Given the description of an element on the screen output the (x, y) to click on. 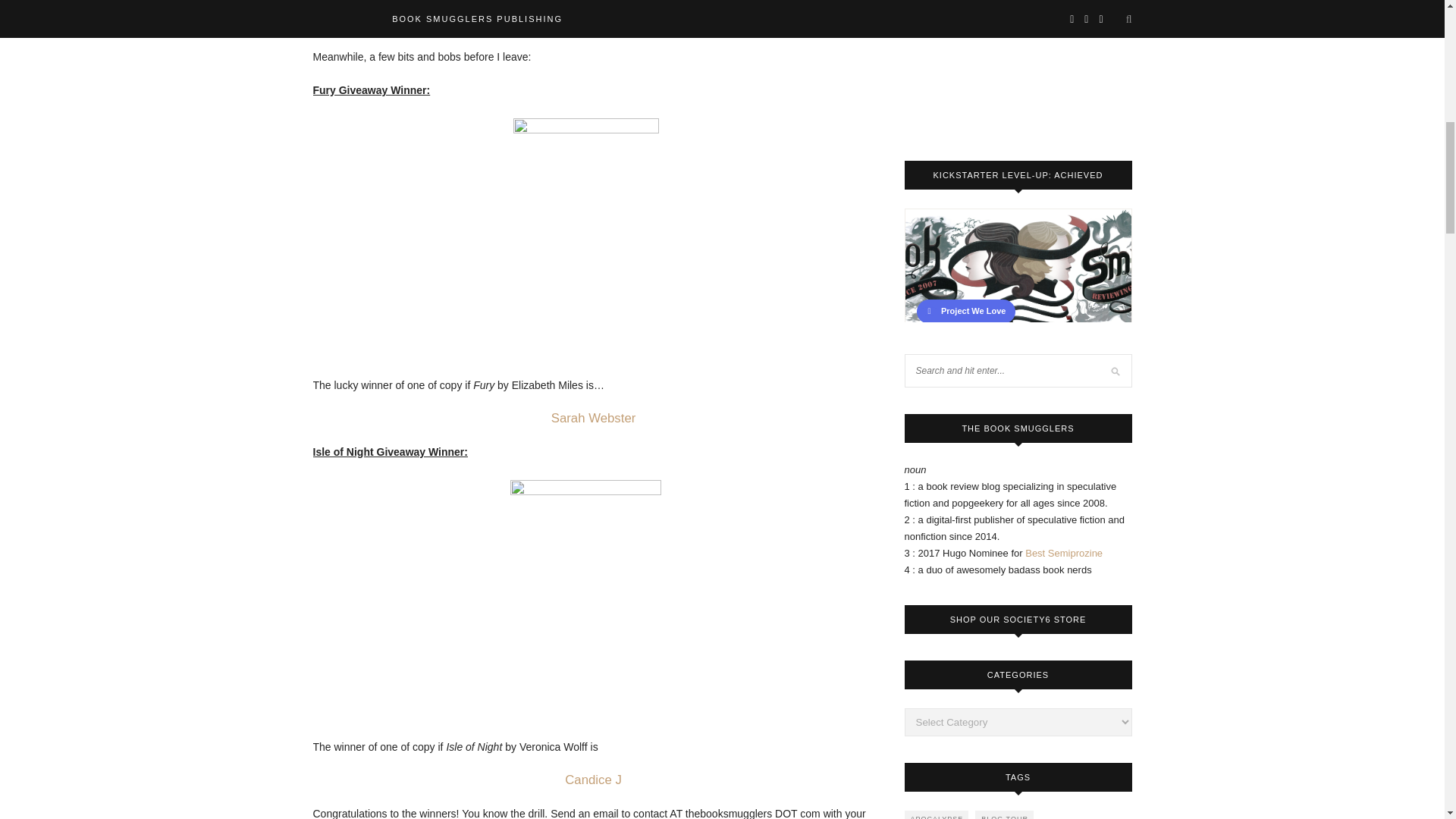
Sarah Webster (593, 418)
Candice J (592, 779)
